Given the description of an element on the screen output the (x, y) to click on. 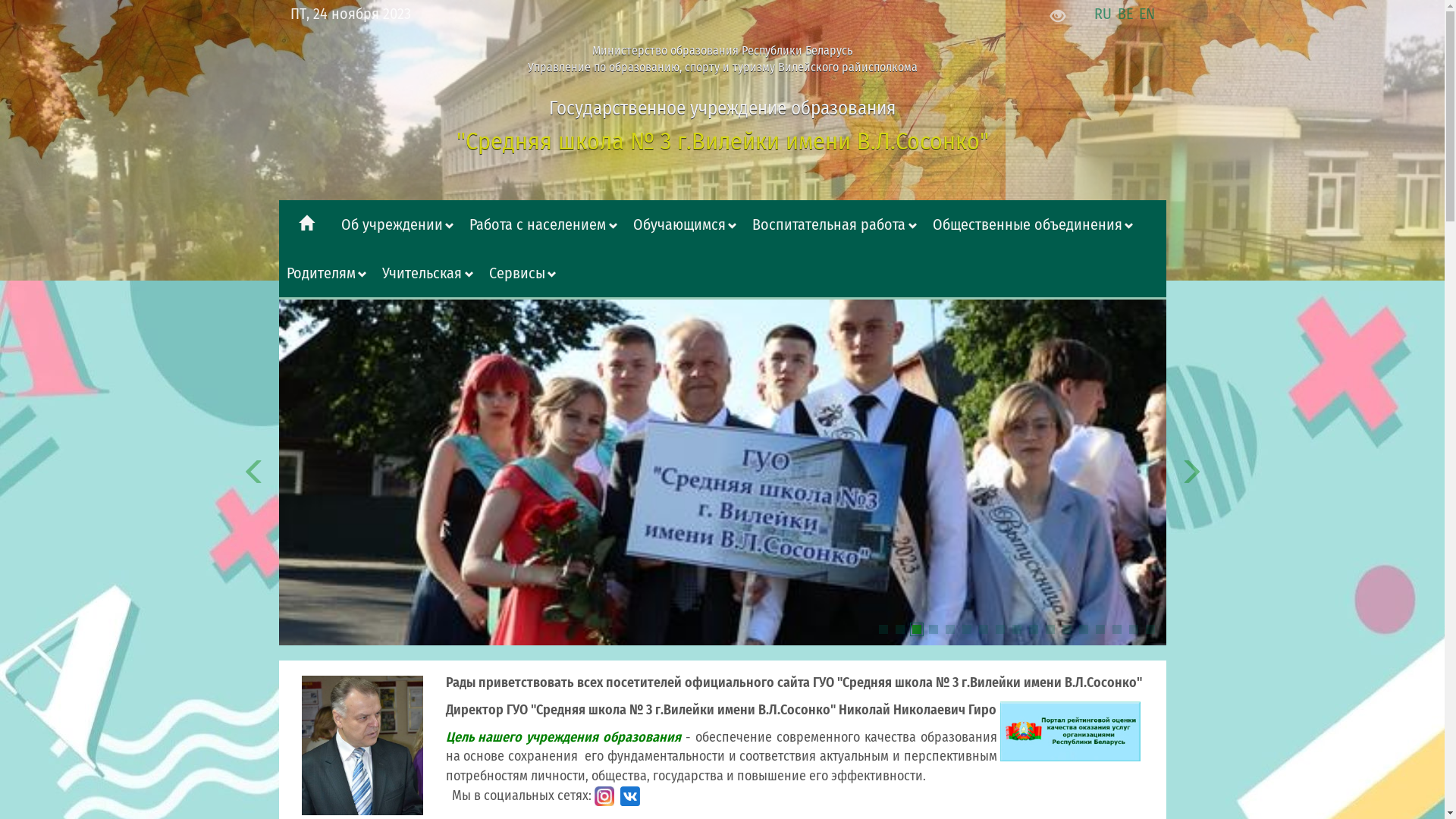
12 Element type: text (1065, 628)
17 Element type: text (1149, 628)
14 Element type: text (1099, 628)
15 Element type: text (1115, 628)
4 Element type: text (932, 628)
RU Element type: text (1103, 13)
2 Element type: text (898, 628)
7 Element type: text (982, 628)
EN Element type: text (1146, 13)
16 Element type: text (1132, 628)
13 Element type: text (1082, 628)
6 Element type: text (965, 628)
11 Element type: text (1049, 628)
10 Element type: text (1032, 628)
BE Element type: text (1126, 13)
9 Element type: text (1015, 628)
3 Element type: text (915, 628)
5 Element type: text (948, 628)
8 Element type: text (999, 628)
1 Element type: text (882, 628)
